Given the description of an element on the screen output the (x, y) to click on. 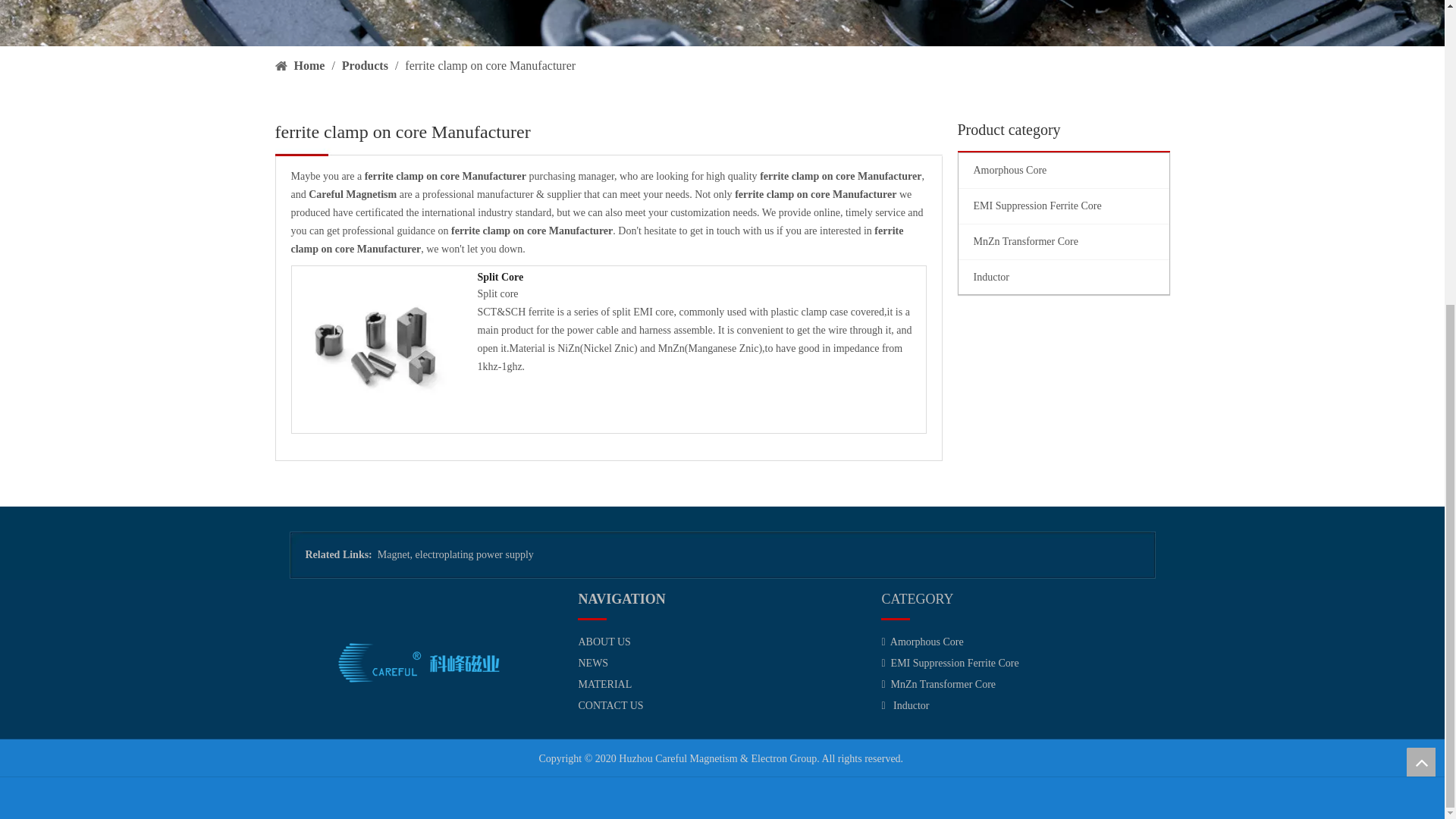
b-logo (418, 662)
Split Core (701, 277)
Split Core (374, 348)
MnZn Transformer Core (1063, 241)
Amorphous Core (1063, 170)
Inductor (1063, 277)
EMI Suppression Ferrite Core (1063, 206)
